Given the description of an element on the screen output the (x, y) to click on. 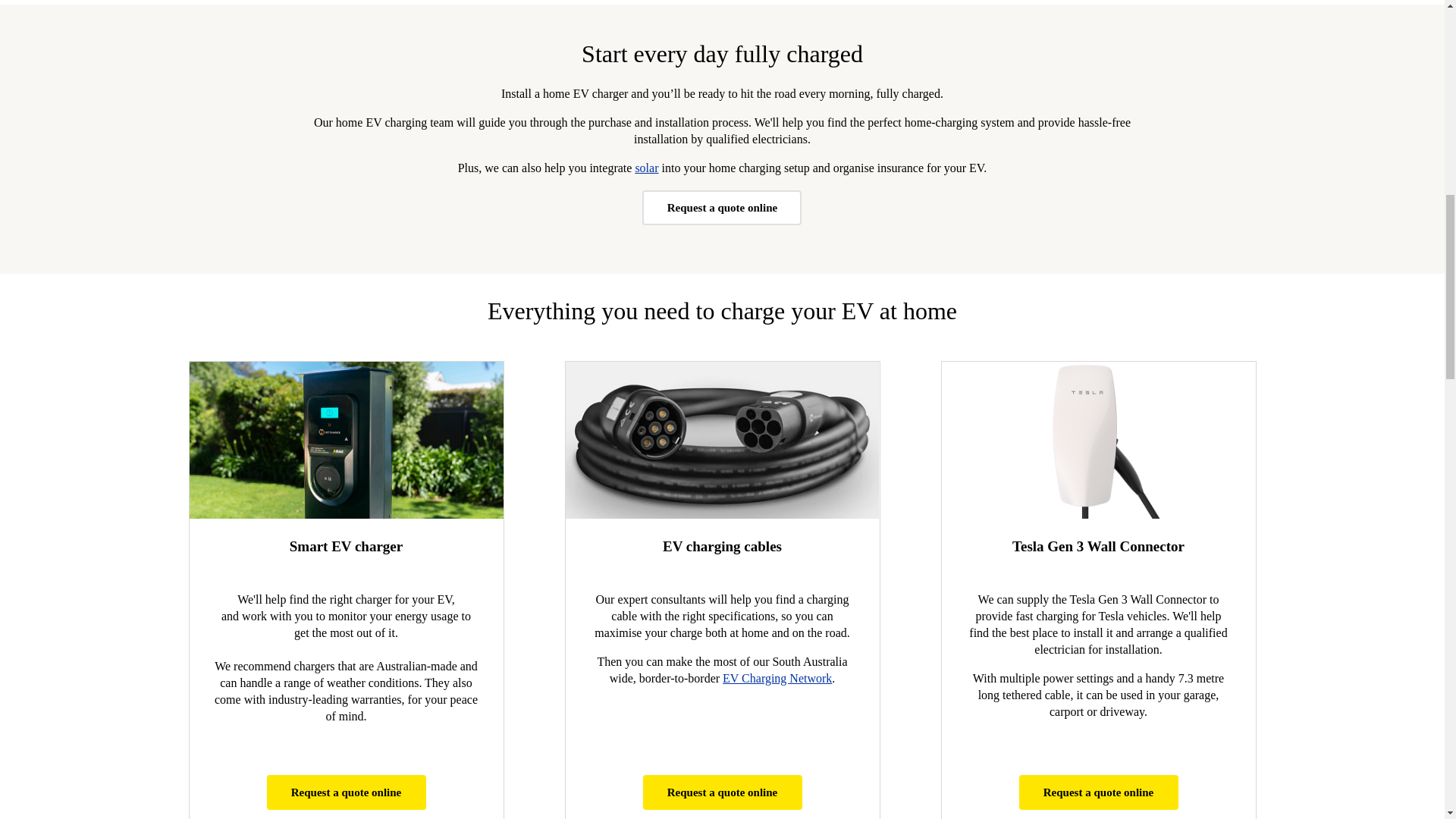
Tesla Gen 3 Wall Connector (1098, 439)
RAA home EV charger (346, 439)
